Given the description of an element on the screen output the (x, y) to click on. 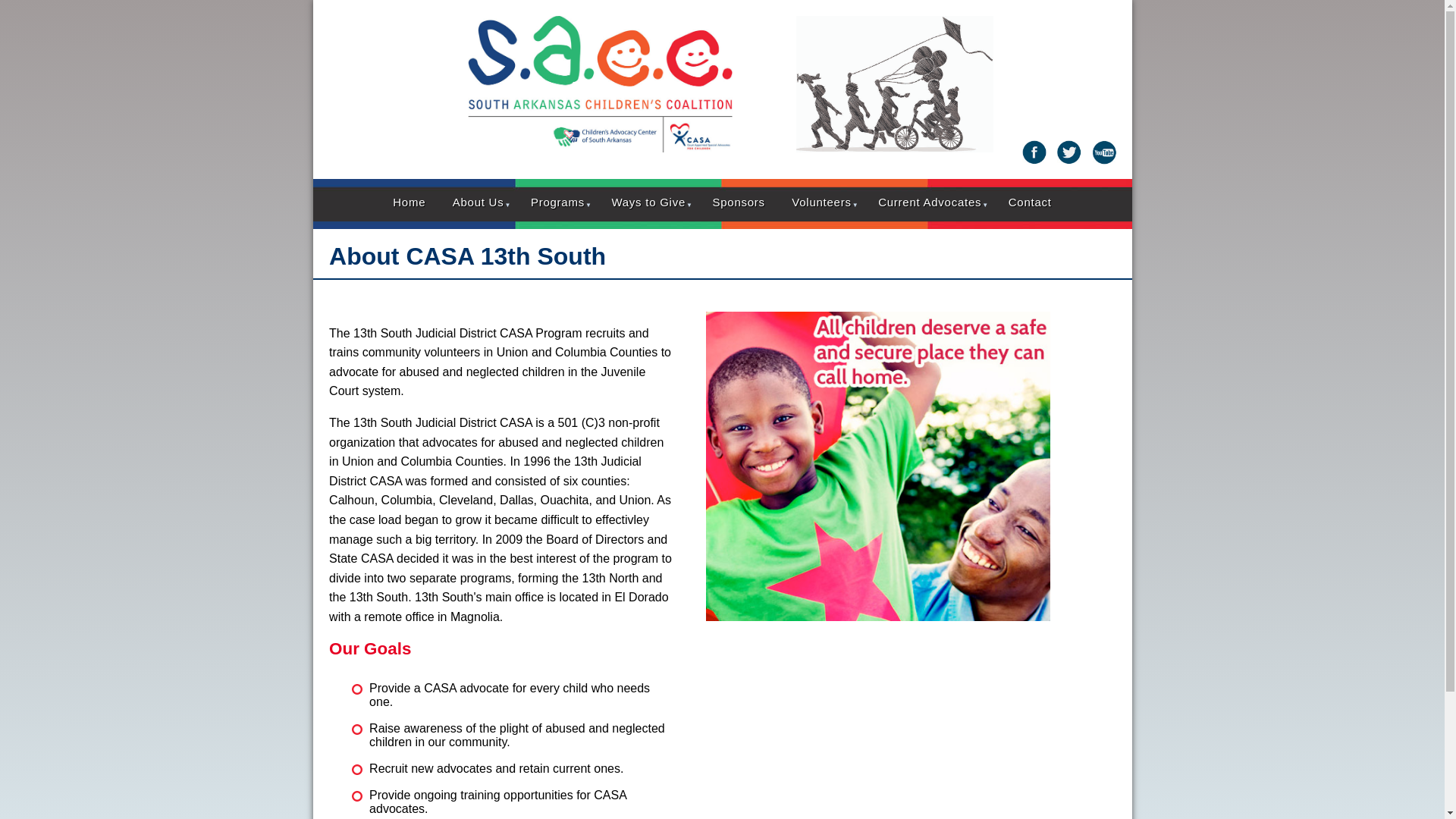
Current Advocates Element type: text (929, 202)
Contact Element type: text (1029, 202)
Programs Element type: text (557, 202)
Sponsors Element type: text (738, 202)
About Us Element type: text (478, 202)
Volunteers Element type: text (820, 202)
Home Element type: text (408, 202)
Ways to Give Element type: text (648, 202)
